Given the description of an element on the screen output the (x, y) to click on. 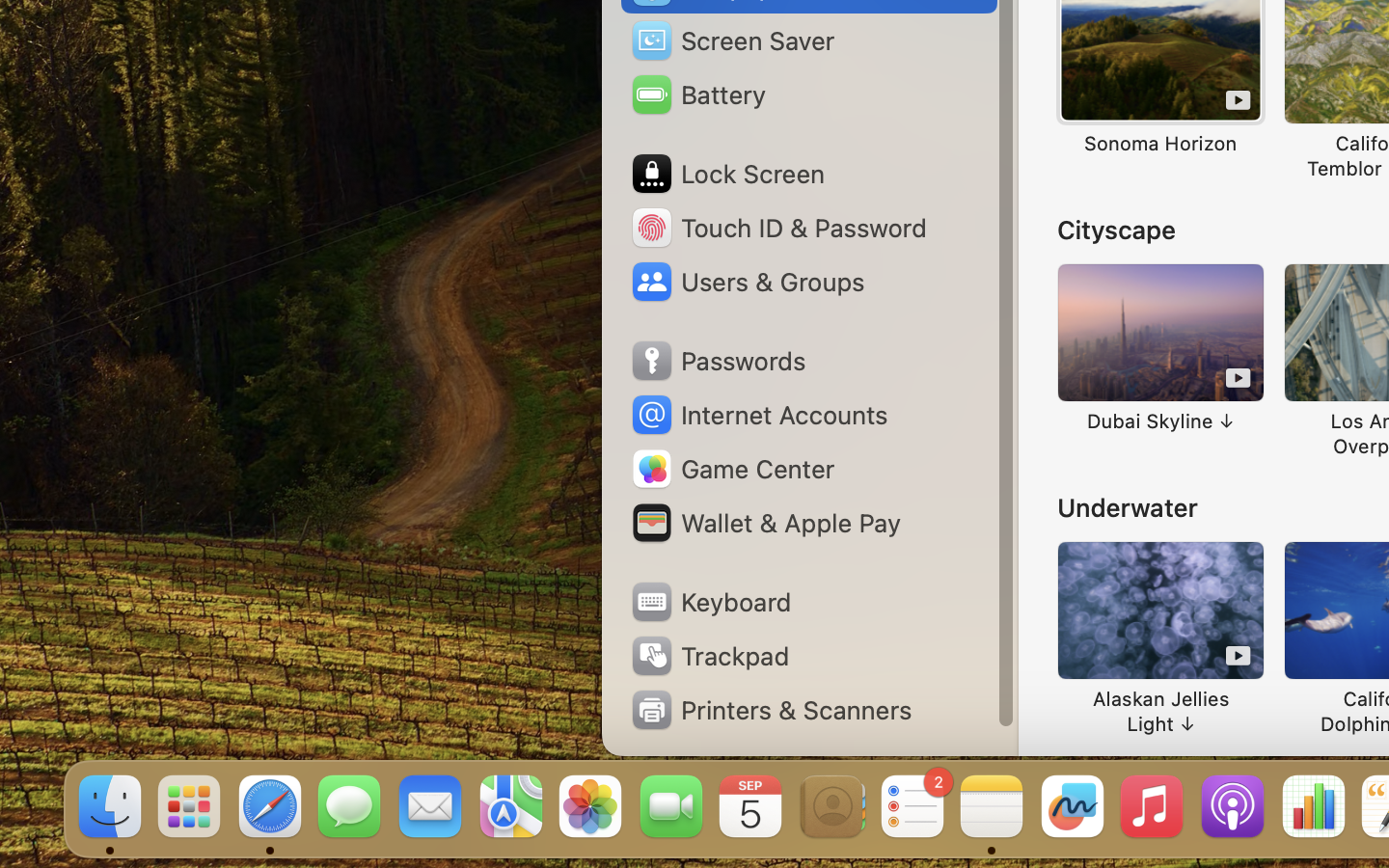
Trackpad Element type: AXStaticText (708, 655)
Game Center Element type: AXStaticText (731, 468)
Lock Screen Element type: AXStaticText (726, 173)
Underwater Element type: AXStaticText (1127, 506)
Users & Groups Element type: AXStaticText (746, 281)
